Given the description of an element on the screen output the (x, y) to click on. 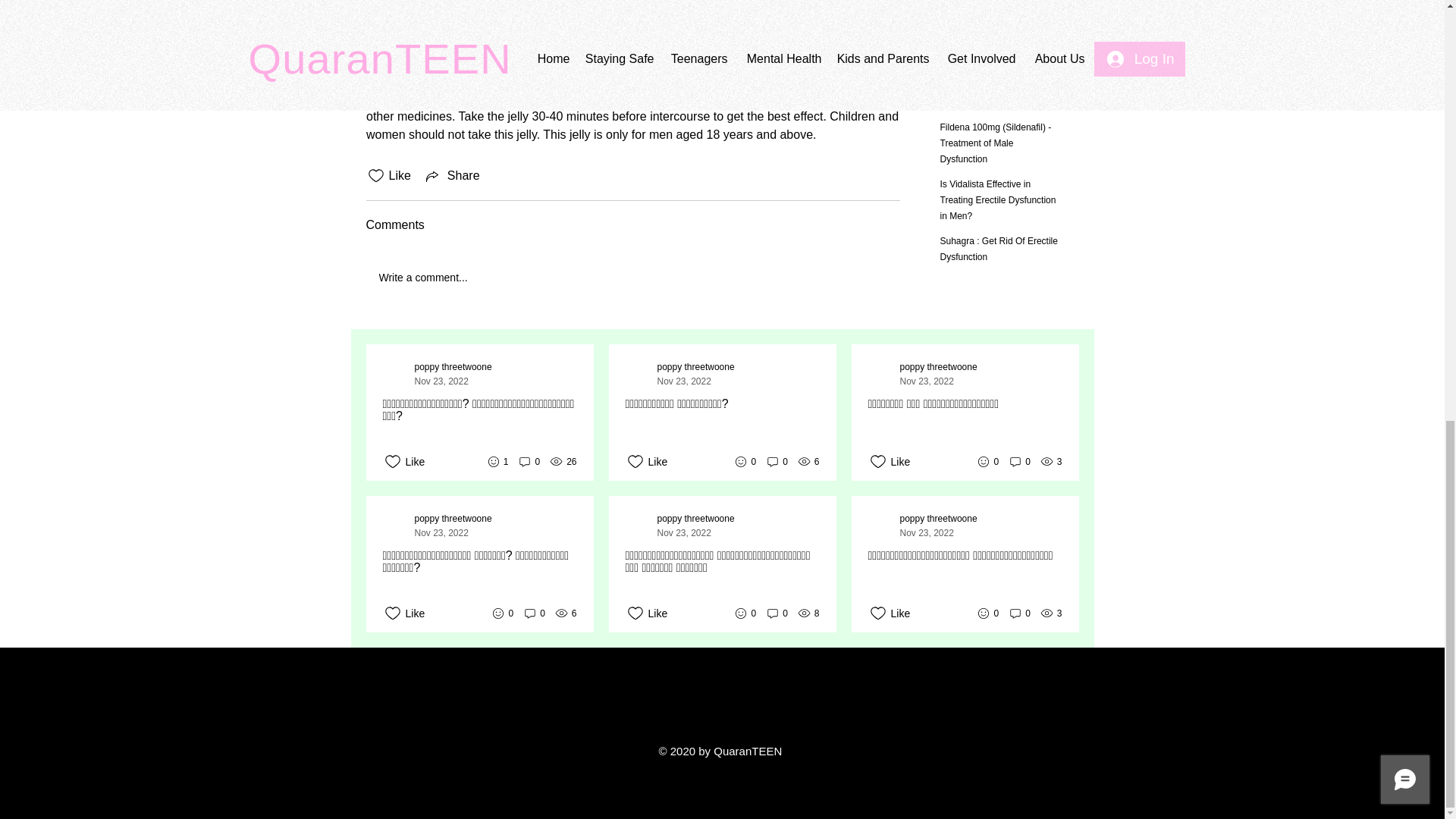
Share (451, 176)
kamagra 100mg oral jelly (623, 51)
Write a comment... (632, 277)
